Given the description of an element on the screen output the (x, y) to click on. 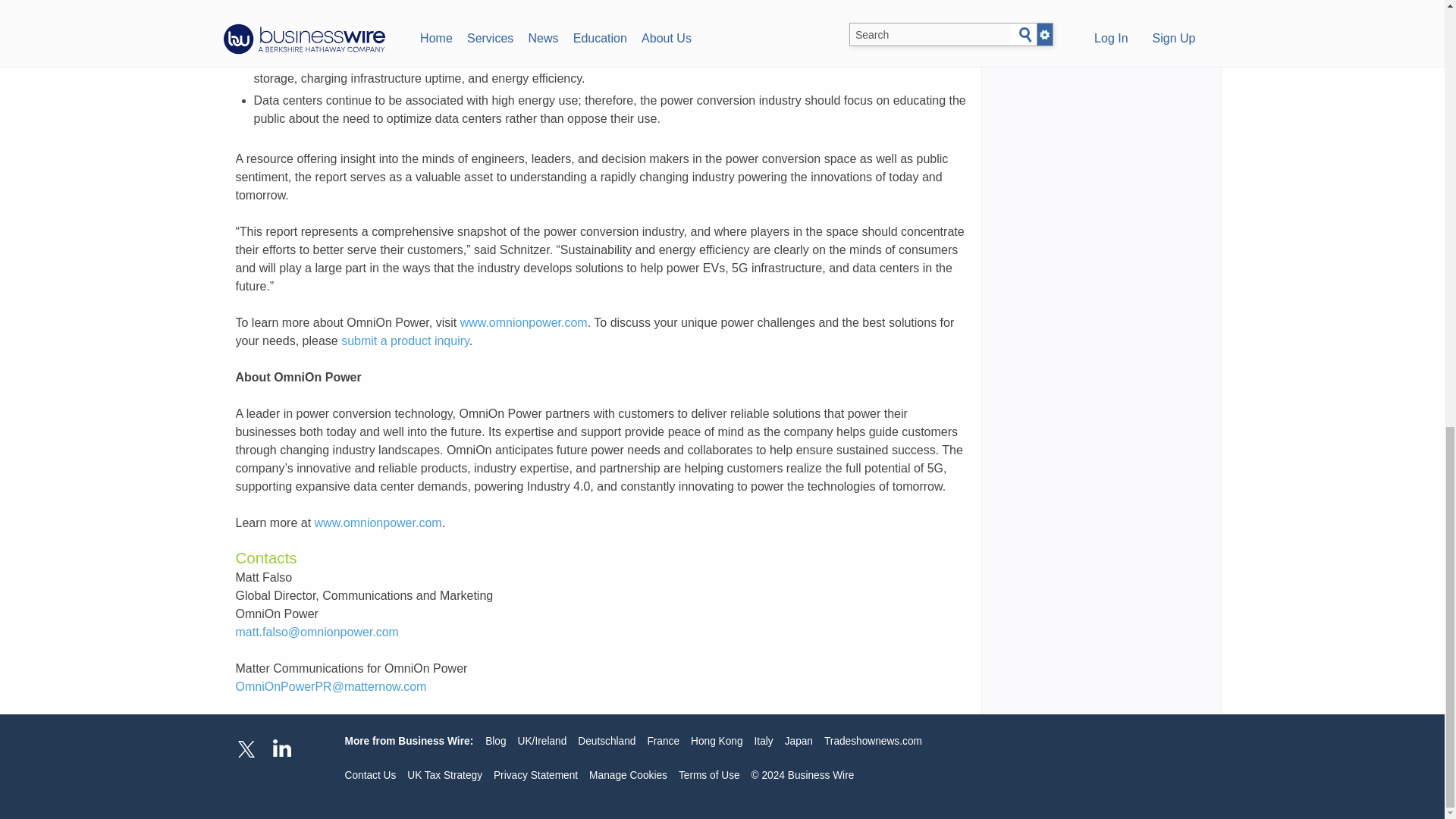
submit a product inquiry (404, 340)
www.omnionpower.com (378, 522)
www.omnionpower.com (524, 322)
